Given the description of an element on the screen output the (x, y) to click on. 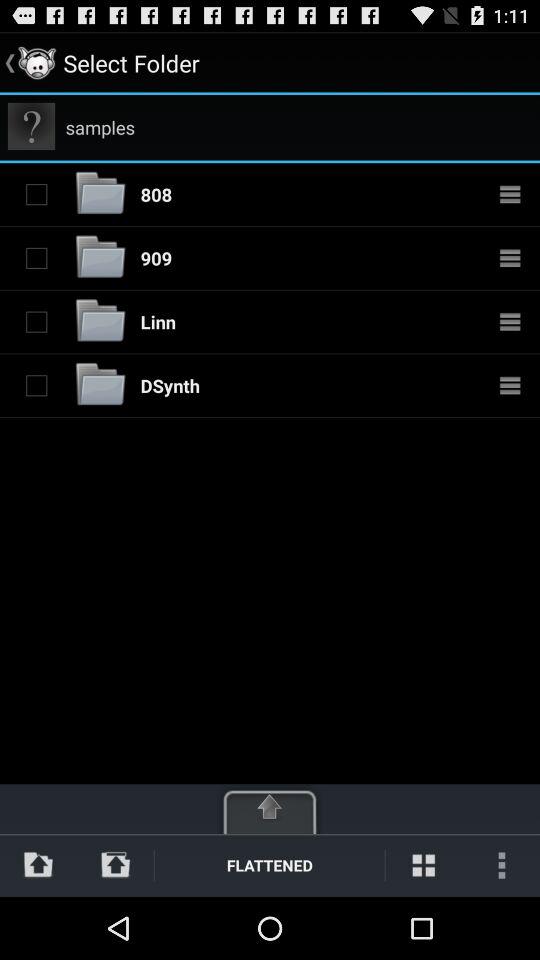
select the item to the left of the samples app (31, 125)
